Given the description of an element on the screen output the (x, y) to click on. 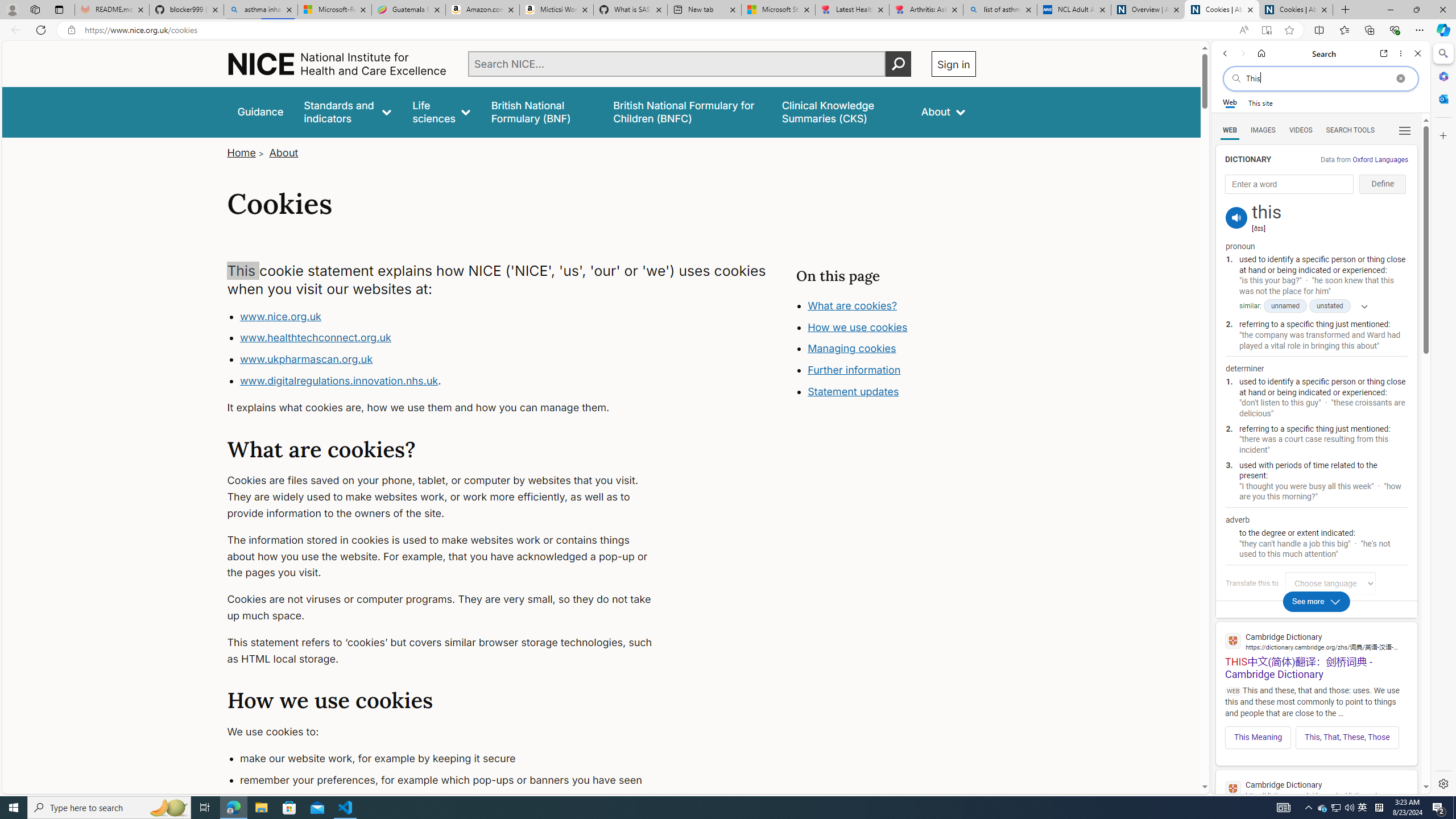
Further information (854, 369)
British National Formulary for Children (BNFC) (686, 111)
www.ukpharmascan.org.uk (305, 359)
www.nice.org.uk (279, 315)
Home> (246, 152)
www.nice.org.uk (452, 316)
